Given the description of an element on the screen output the (x, y) to click on. 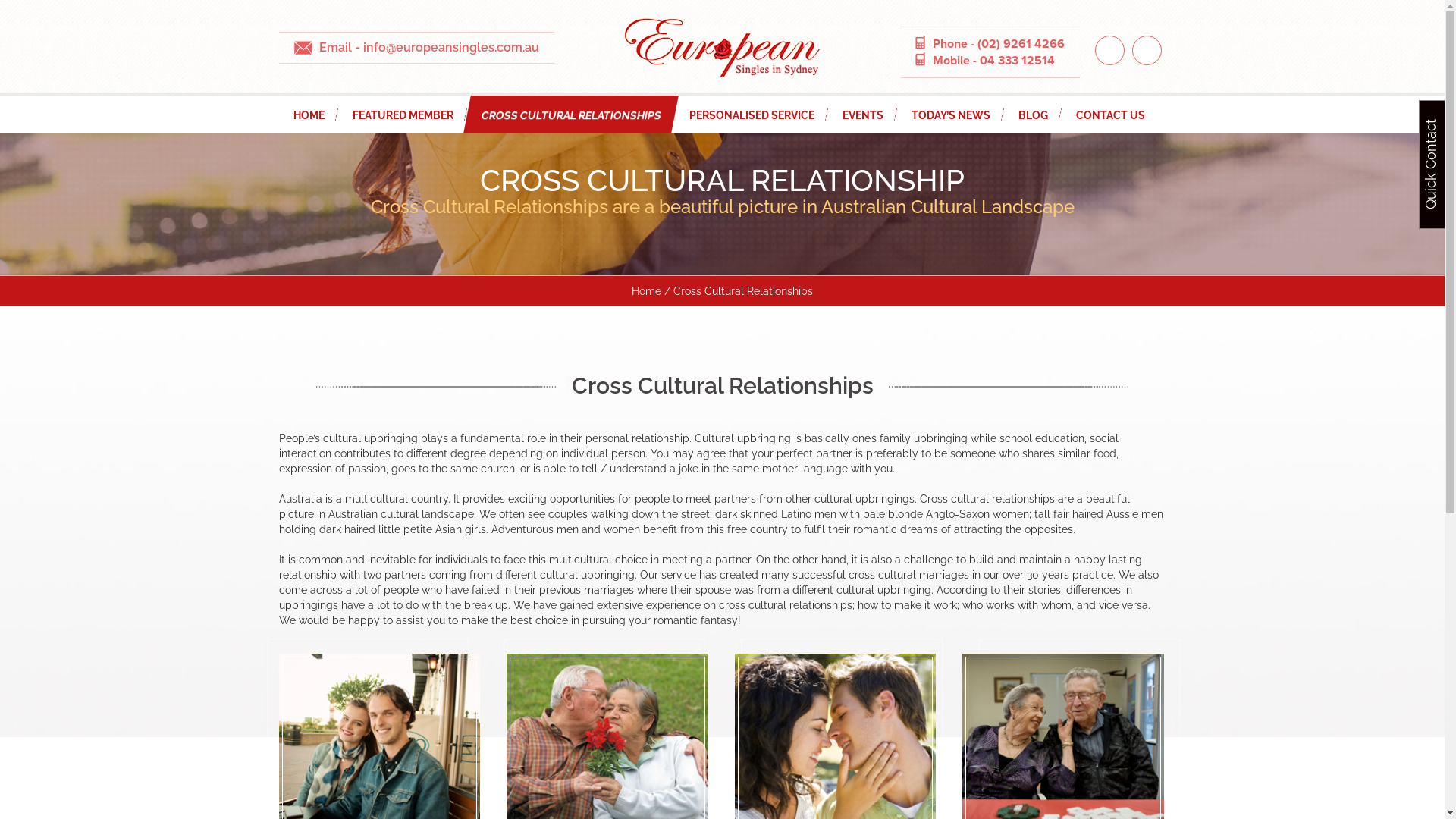
CONTACT US Element type: text (1109, 114)
BLOG Element type: text (1032, 114)
(02) 9261 4266 Element type: text (1019, 43)
FEATURED MEMBER Element type: text (402, 114)
Home / Element type: text (650, 291)
PERSONALISED SERVICE Element type: text (751, 114)
EVENTS Element type: text (862, 114)
CROSS CULTURAL RELATIONSHIPS Element type: text (567, 114)
info@europeansingles.com.au Element type: text (450, 47)
HOME Element type: text (308, 114)
04 333 12514 Element type: text (1016, 60)
